Given the description of an element on the screen output the (x, y) to click on. 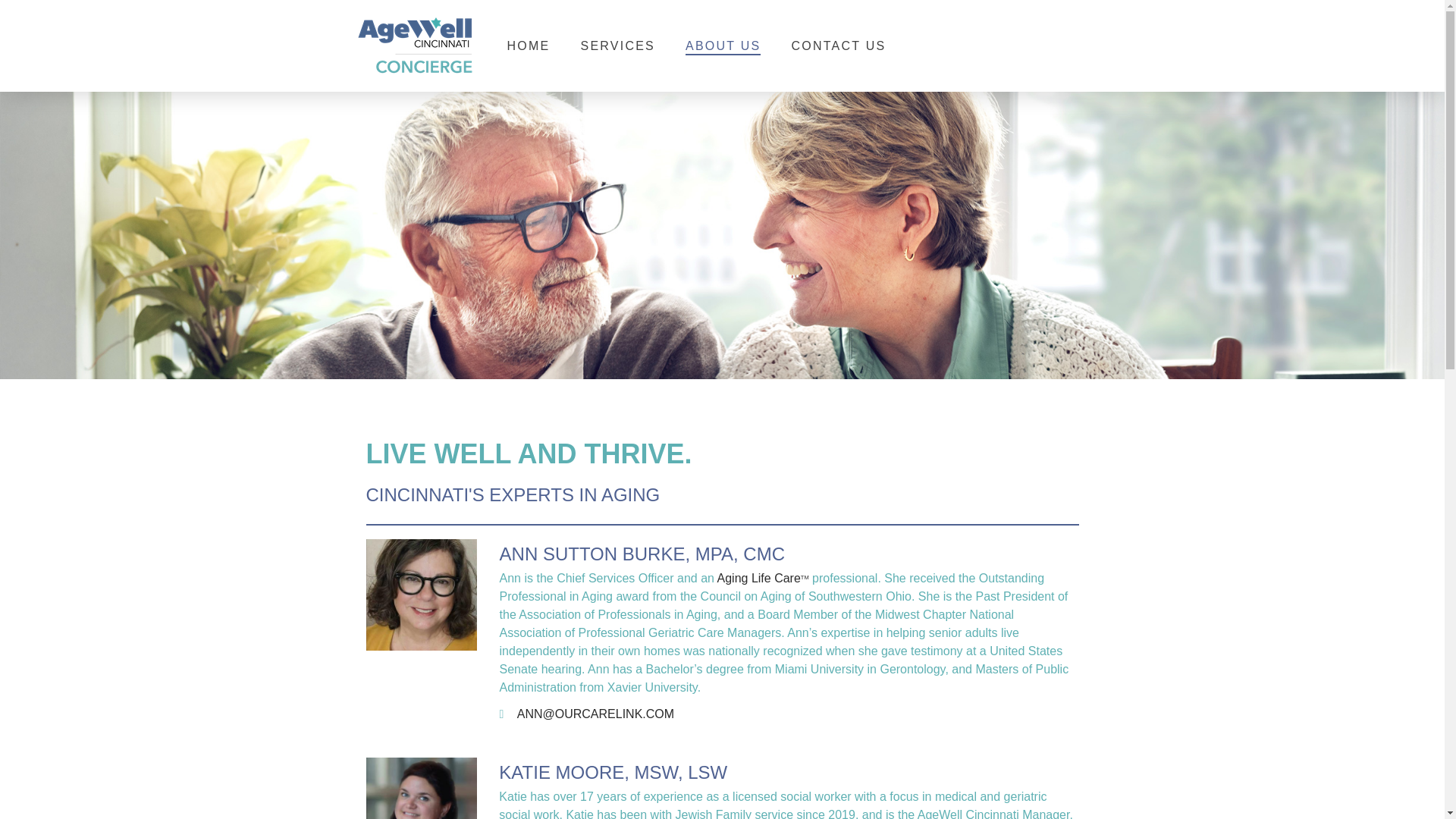
Aging Life CareTM (763, 577)
CONTACT US (837, 45)
HOME (528, 45)
SERVICES (617, 45)
ABOUT US (722, 45)
